Given the description of an element on the screen output the (x, y) to click on. 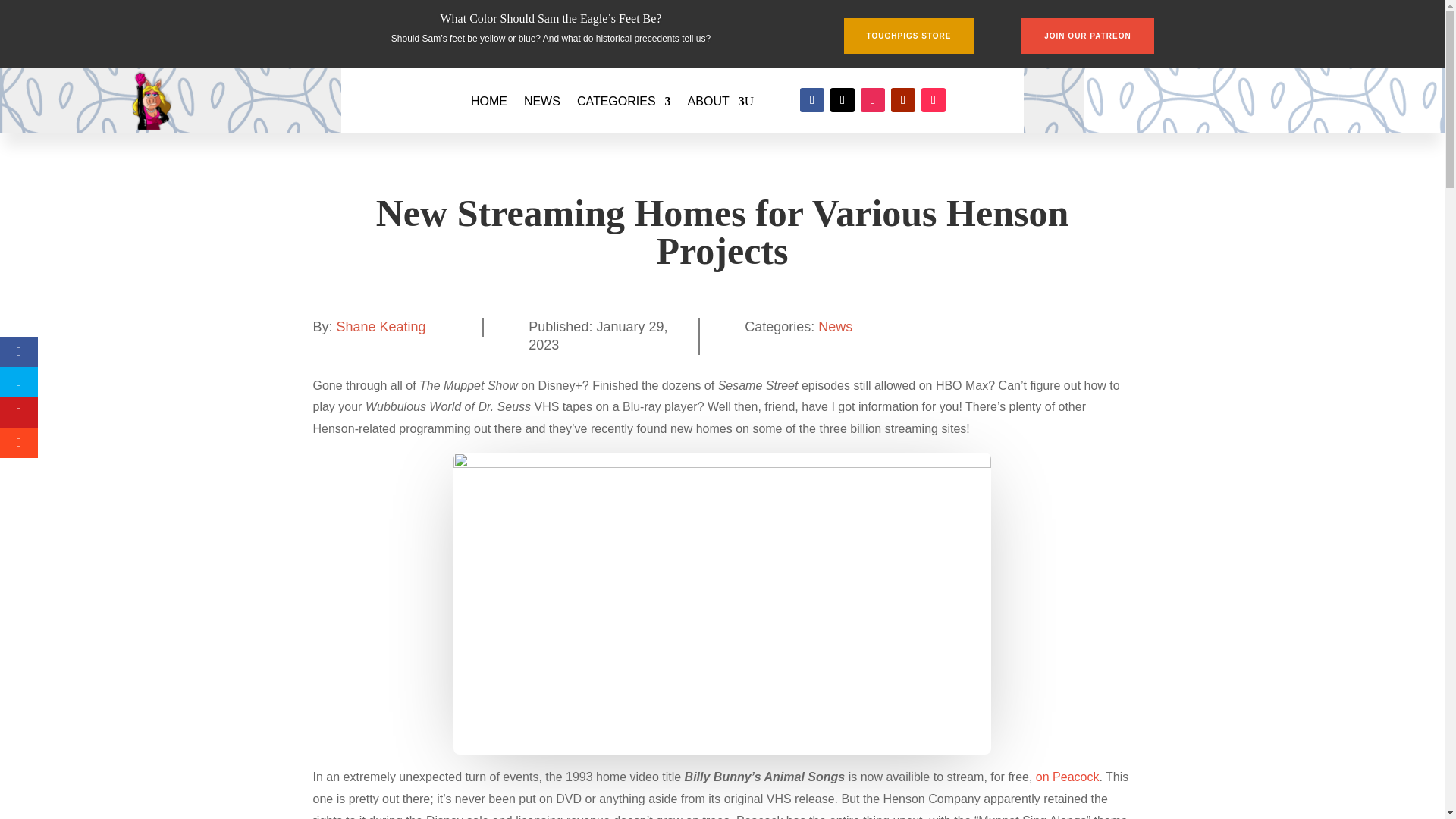
Follow on X (841, 99)
Follow on Facebook (811, 99)
TOUGHPIGS STORE (909, 36)
Follow on Youtube (903, 99)
ABOUT (715, 101)
Follow on TikTok (932, 99)
Follow on Instagram (872, 99)
CATEGORIES (623, 101)
JOIN OUR PATREON (1088, 36)
